Given the description of an element on the screen output the (x, y) to click on. 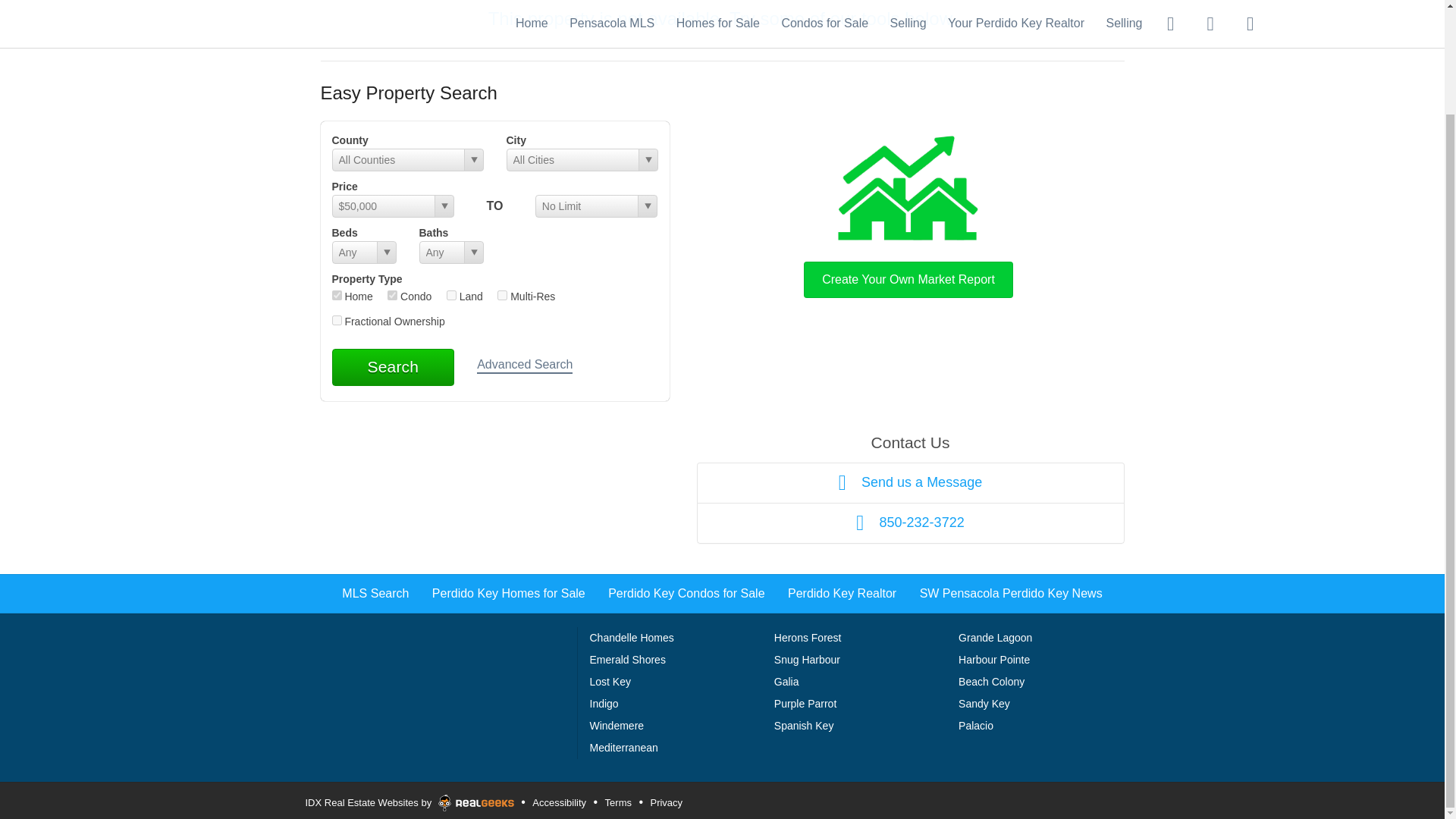
con (392, 295)
Beach Colony (991, 681)
SW Pensacola Perdido Key News (1011, 593)
Create Your Own Market Report (908, 213)
Harbour Pointe (993, 659)
Perdido Key Homes for Sale (508, 593)
Search (392, 366)
Search (392, 366)
MLS Search (375, 593)
Grande Lagoon (995, 637)
